Given the description of an element on the screen output the (x, y) to click on. 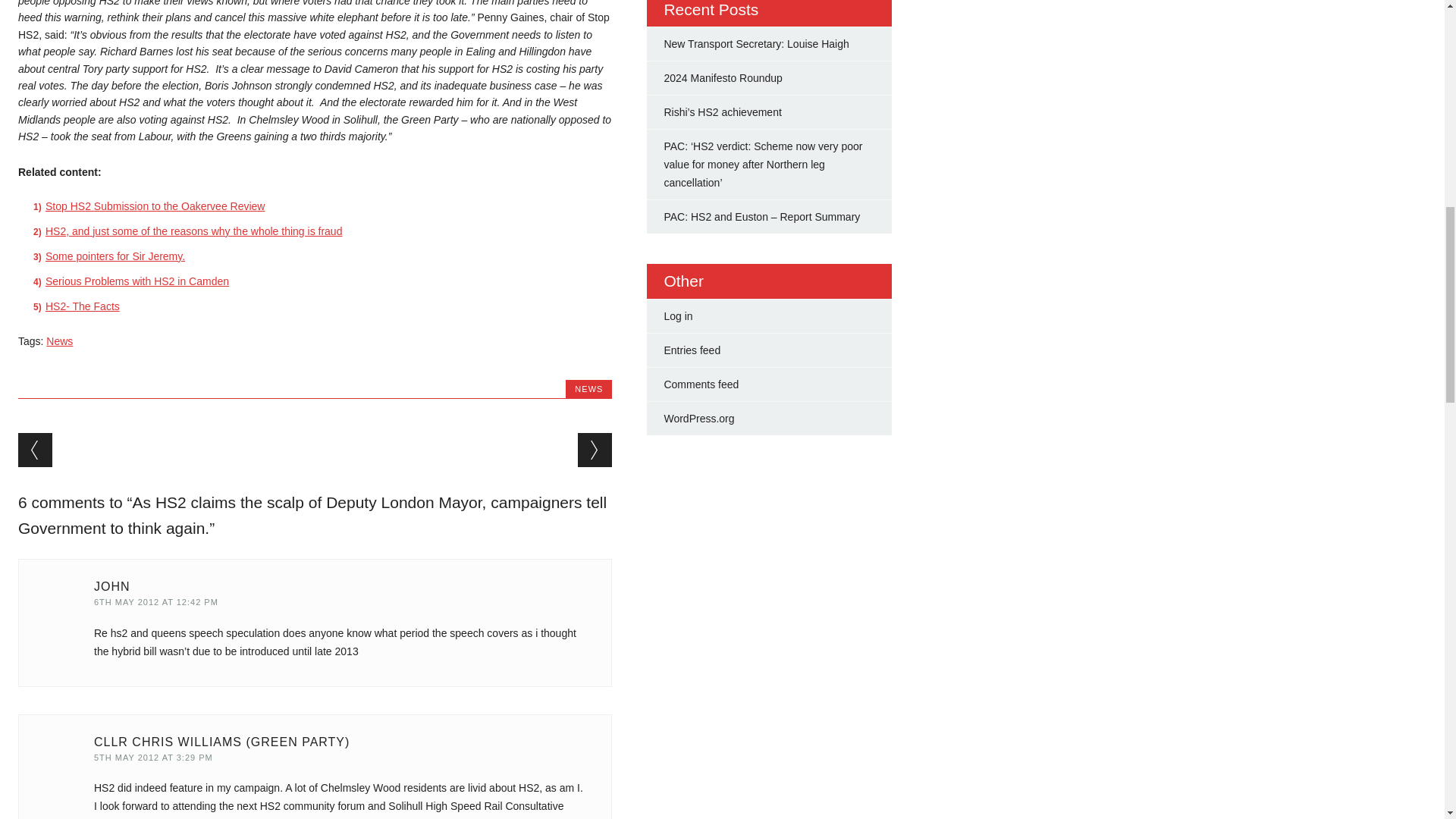
5TH MAY 2012 AT 3:29 PM (153, 757)
Permanent link to Stop HS2 Submission to the Oakervee Review (154, 205)
Permanent link to Some pointers for Sir Jeremy. (114, 256)
Some pointers for Sir Jeremy. (114, 256)
Permanent link to Serious Problems with HS2 in Camden (136, 281)
News (59, 340)
Stop HS2 Submission to the Oakervee Review (154, 205)
Permanent link to HS2- The Facts (82, 306)
NEWS (588, 388)
6TH MAY 2012 AT 12:42 PM (156, 601)
HS2- The Facts (82, 306)
Serious Problems with HS2 in Camden (136, 281)
News (59, 340)
